Given the description of an element on the screen output the (x, y) to click on. 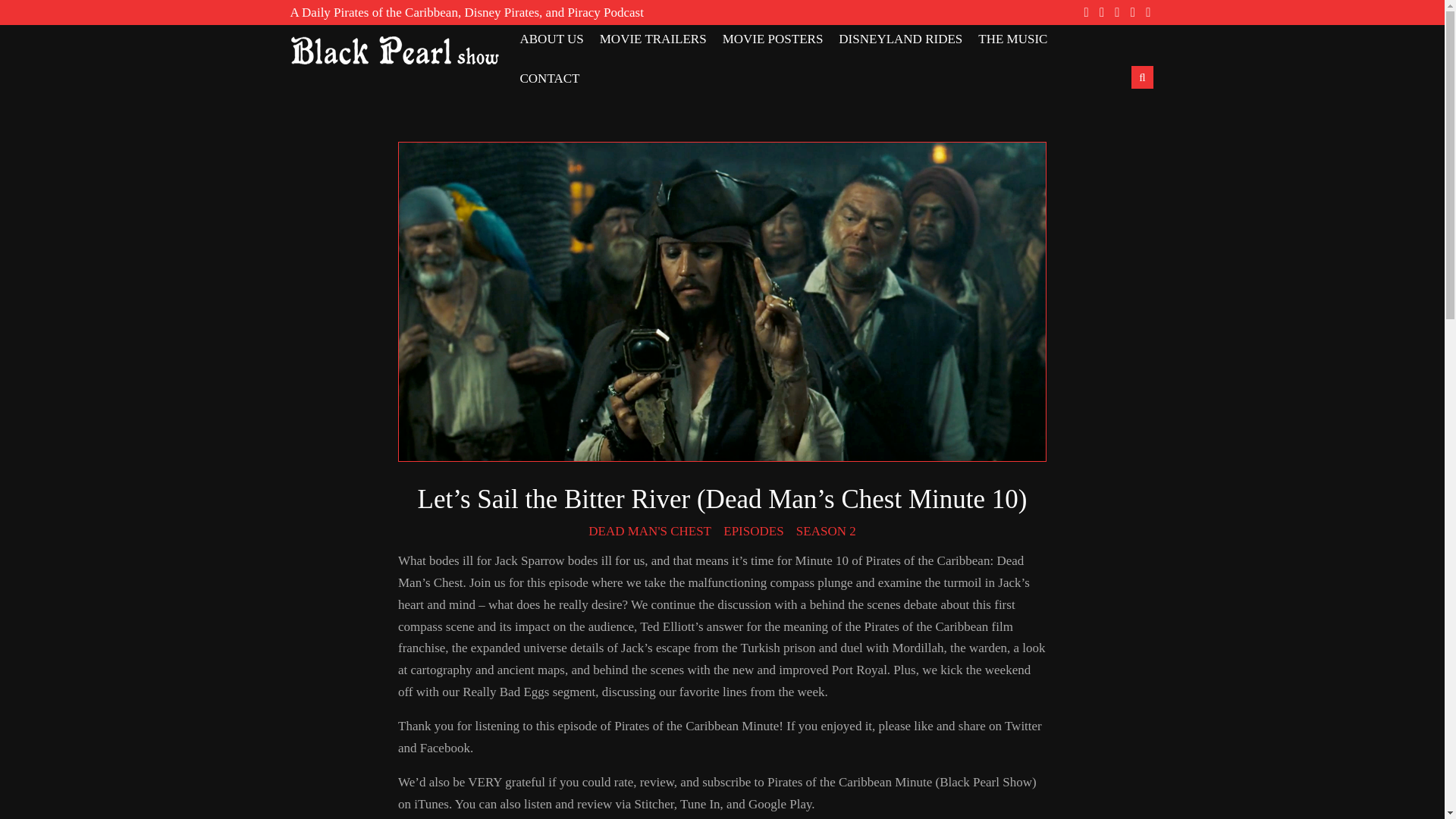
THE MUSIC (1012, 38)
Black Pearl Show: Pirates of the Caribbean Minute (393, 50)
ABOUT US (551, 38)
DEAD MAN'S CHEST (649, 531)
DISNEYLAND RIDES (900, 38)
MOVIE POSTERS (773, 38)
SEASON 2 (826, 531)
MOVIE TRAILERS (652, 38)
EPISODES (753, 531)
CONTACT (549, 78)
